Given the description of an element on the screen output the (x, y) to click on. 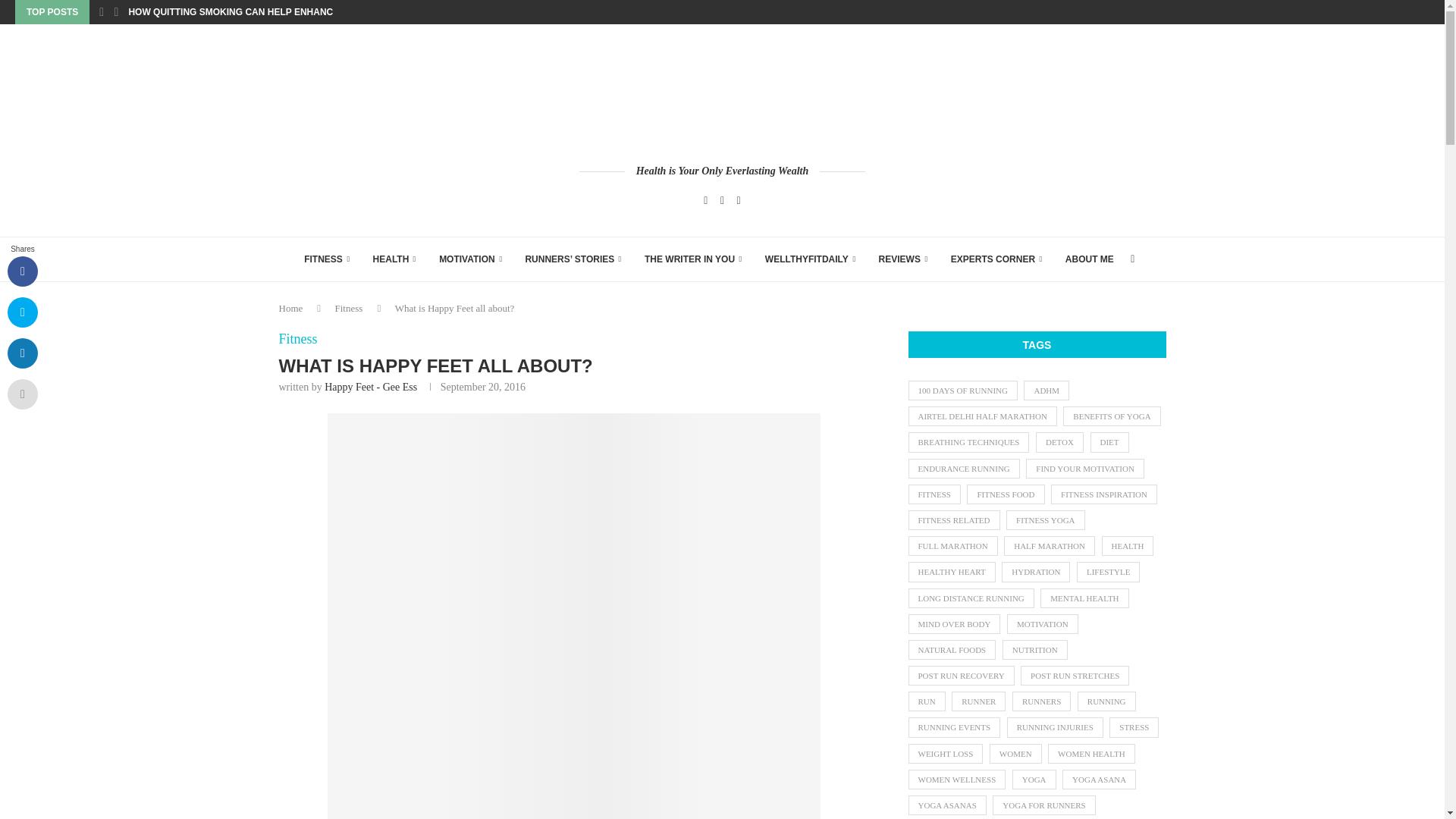
HOW QUITTING SMOKING CAN HELP ENHANCE YOUR YOGA... (266, 12)
FITNESS (326, 259)
